Given the description of an element on the screen output the (x, y) to click on. 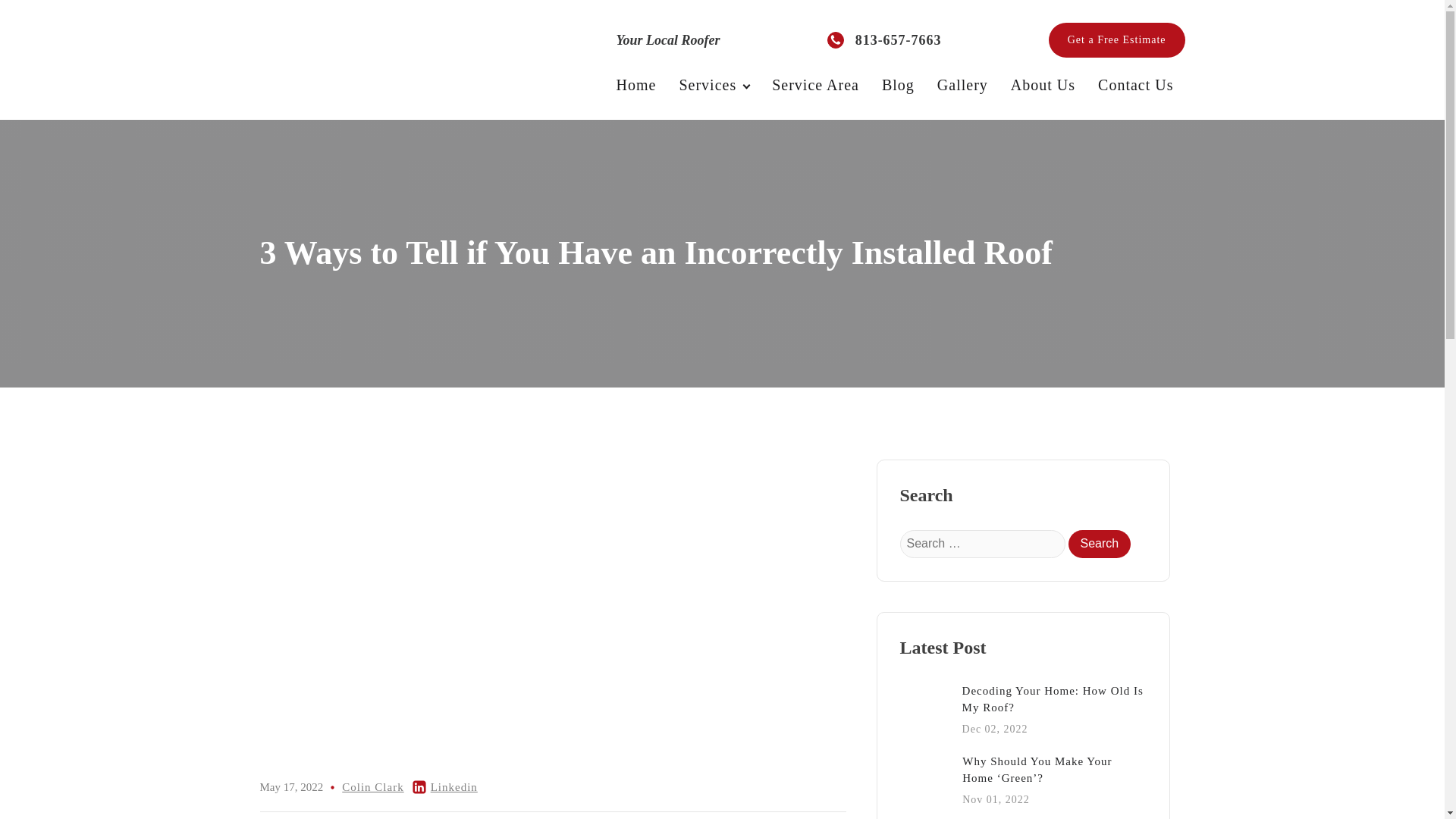
Colin Clark (372, 787)
Home (636, 84)
Blog (898, 84)
Search (1099, 543)
Service Area (815, 84)
Get a Free Estimate (1116, 39)
Services (713, 84)
Search (1099, 543)
Linkedin (453, 787)
Contact Us (1135, 84)
Gallery (962, 84)
Search (1099, 543)
About Us (1022, 709)
813-657-7663 (1042, 84)
